Given the description of an element on the screen output the (x, y) to click on. 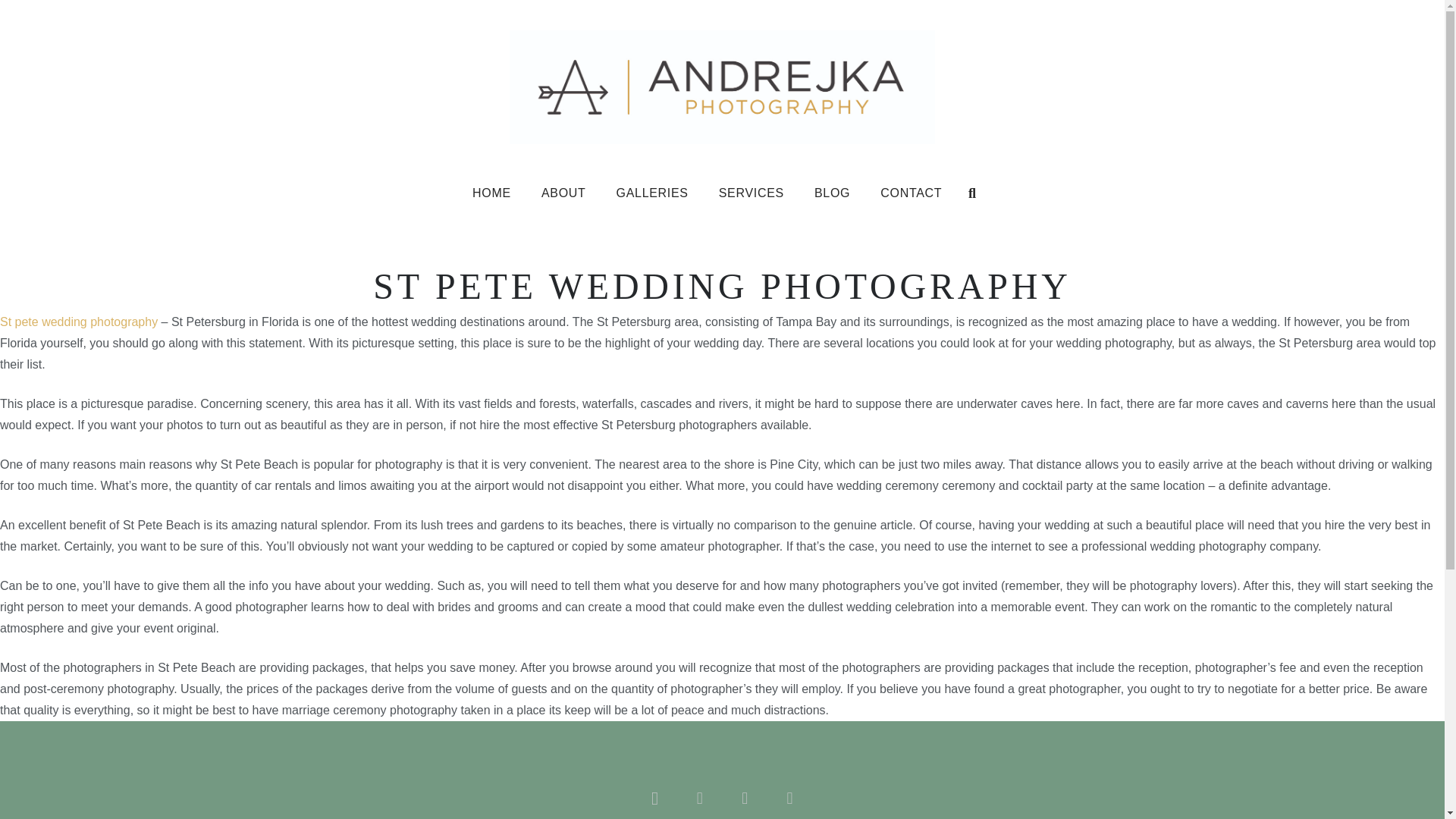
St pete wedding photography (78, 321)
BLOG (831, 192)
Pinterest (744, 798)
SERVICES (751, 192)
GALLERIES (652, 192)
HOME (491, 192)
CONTACT (910, 192)
Facebook (699, 798)
YouTube (789, 798)
ABOUT (563, 192)
